Given the description of an element on the screen output the (x, y) to click on. 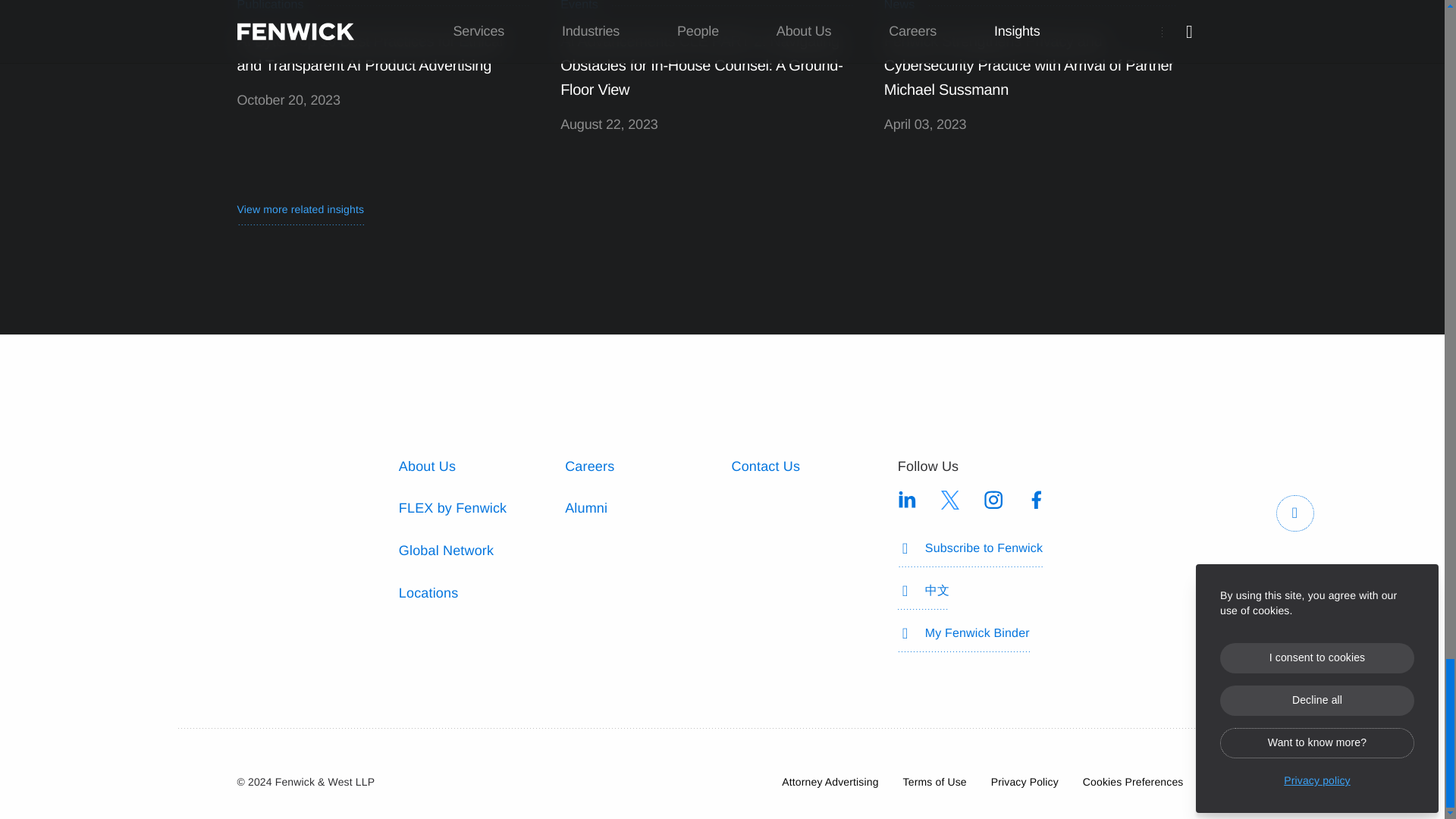
Careers (589, 466)
FLEX by Fenwick (452, 507)
Global Network (445, 549)
Contact Us (764, 466)
Locations (428, 592)
Alumni (585, 507)
About Us (426, 466)
